Given the description of an element on the screen output the (x, y) to click on. 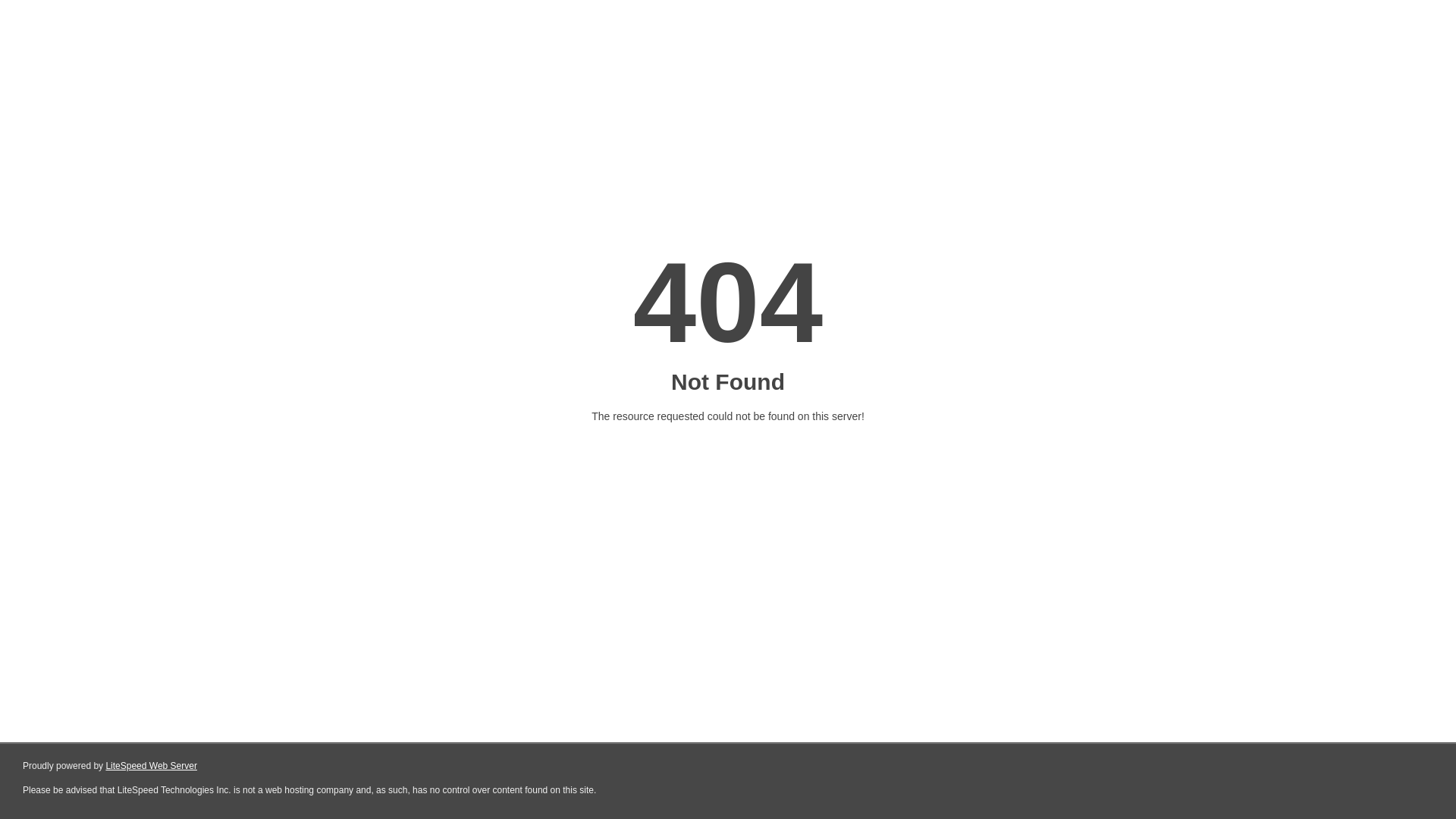
LiteSpeed Web Server Element type: text (151, 765)
